Given the description of an element on the screen output the (x, y) to click on. 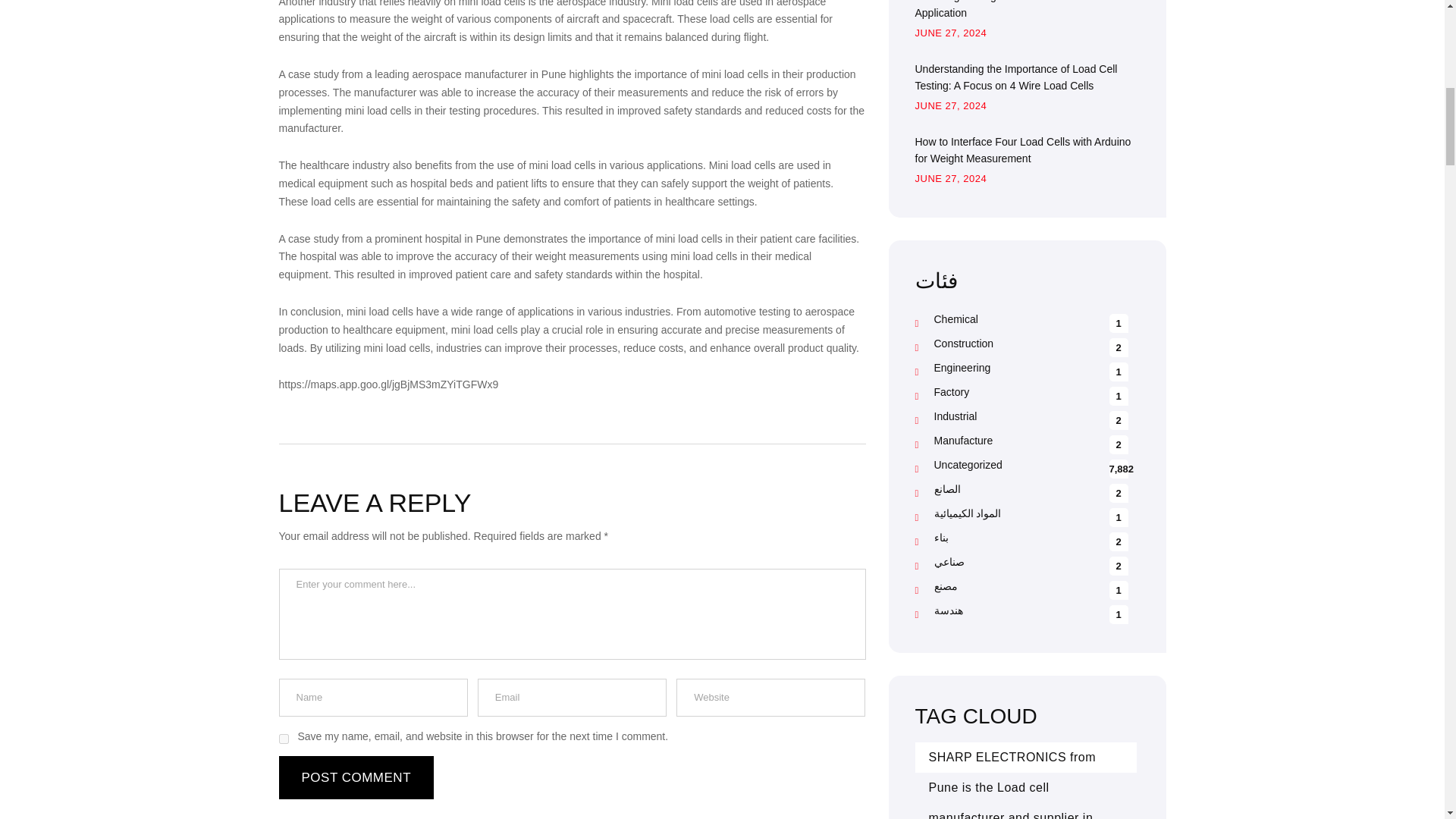
Post Comment (356, 777)
yes (283, 738)
